Given the description of an element on the screen output the (x, y) to click on. 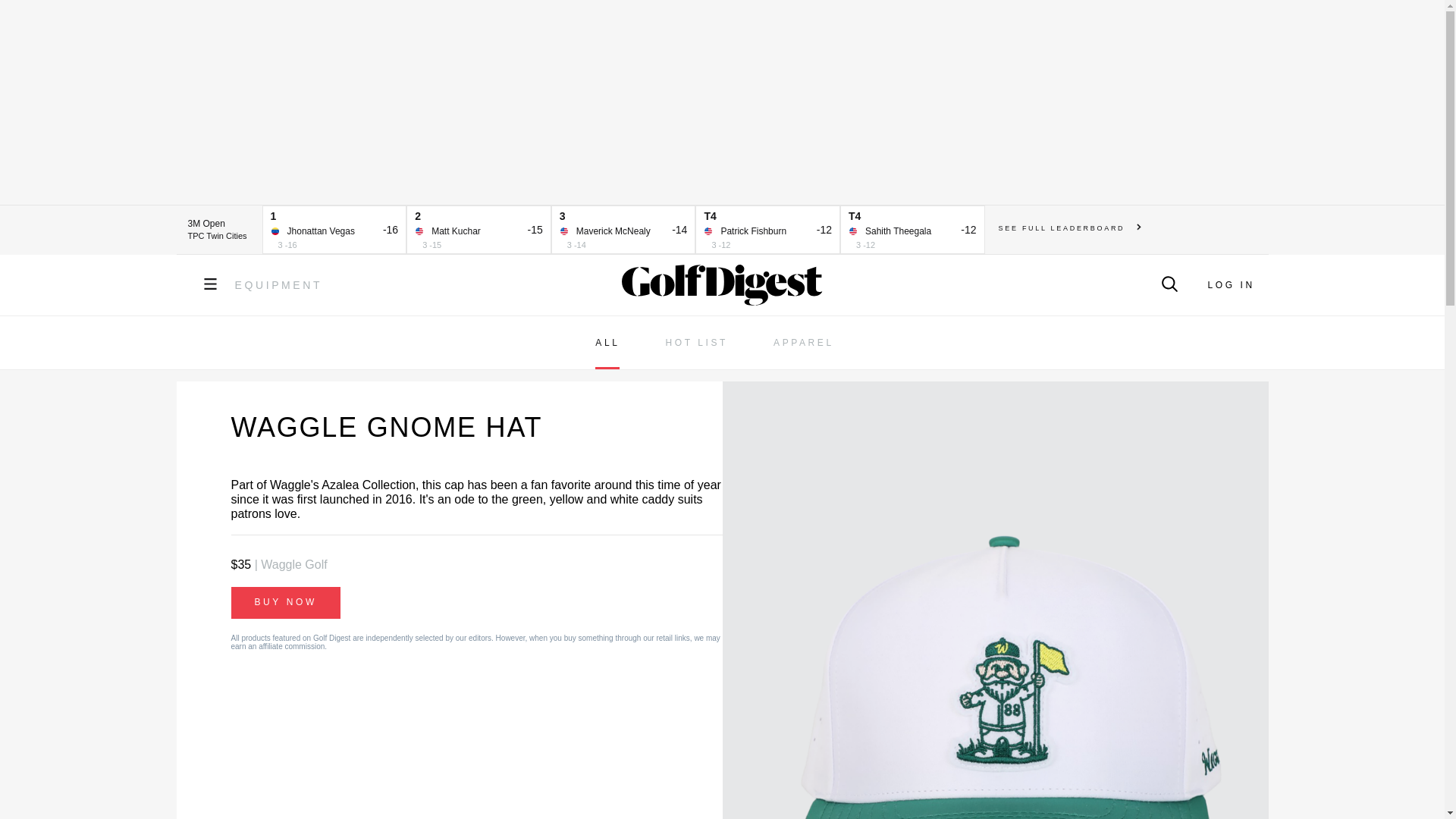
EQUIPMENT (278, 285)
APPAREL (803, 342)
HOT LIST (696, 342)
LOG IN (1230, 285)
3rd party ad content (721, 101)
SEE FULL LEADERBOARD (1069, 227)
